Given the description of an element on the screen output the (x, y) to click on. 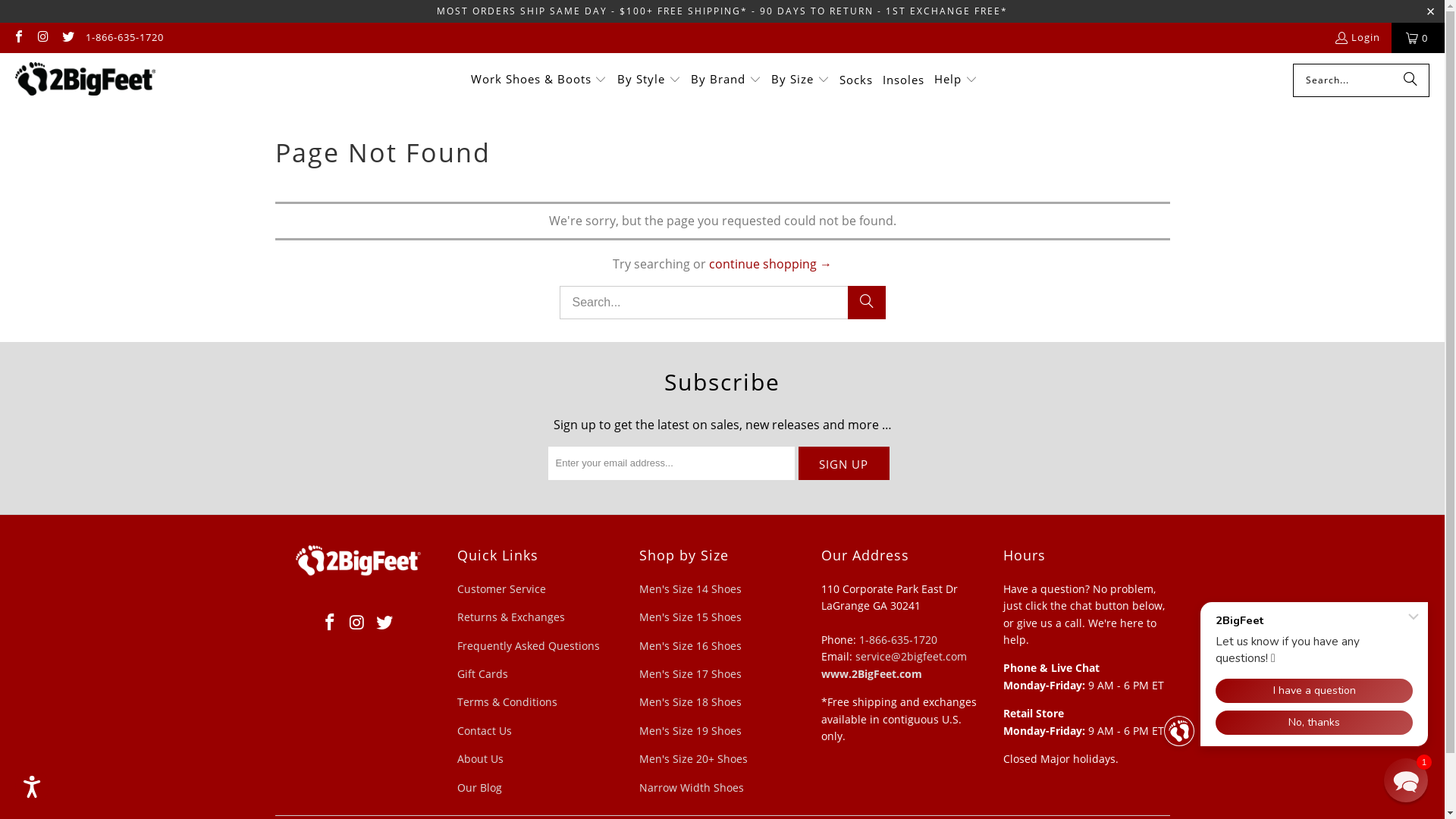
2BigFeet on Instagram Element type: hover (42, 37)
1-866-635-1720 Element type: text (897, 639)
Terms & Conditions Element type: text (506, 701)
Gift Cards Element type: text (481, 673)
About Us Element type: text (479, 758)
2BigFeet on Twitter Element type: hover (384, 622)
Our Blog Element type: text (478, 787)
Sign Up Element type: text (842, 463)
2BigFeet on Twitter Element type: hover (67, 37)
service@2bigfeet.com Element type: text (910, 656)
2BigFeet on Instagram Element type: hover (357, 622)
2BigFeet on Facebook Element type: hover (18, 37)
Men's Size 20+ Shoes Element type: text (692, 758)
Men's Size 19 Shoes Element type: text (689, 730)
2BigFeet Element type: hover (85, 79)
www.2BigFeet.com Element type: text (870, 673)
Men's Size 17 Shoes Element type: text (689, 673)
Narrow Width Shoes Element type: text (690, 787)
Contact Us Element type: text (483, 730)
Re:amaze Chat Element type: hover (1298, 670)
2BigFeet on Facebook Element type: hover (330, 622)
0 Element type: text (1417, 37)
Insoles Element type: text (903, 79)
Men's Size 14 Shoes Element type: text (689, 588)
Customer Service Element type: text (500, 588)
Men's Size 18 Shoes Element type: text (689, 701)
1-866-635-1720 Element type: text (124, 37)
Men's Size 16 Shoes Element type: text (689, 645)
Returns & Exchanges Element type: text (510, 616)
Frequently Asked Questions Element type: text (527, 645)
Men's Size 15 Shoes Element type: text (689, 616)
Socks Element type: text (855, 79)
Login Element type: text (1356, 37)
